Given the description of an element on the screen output the (x, y) to click on. 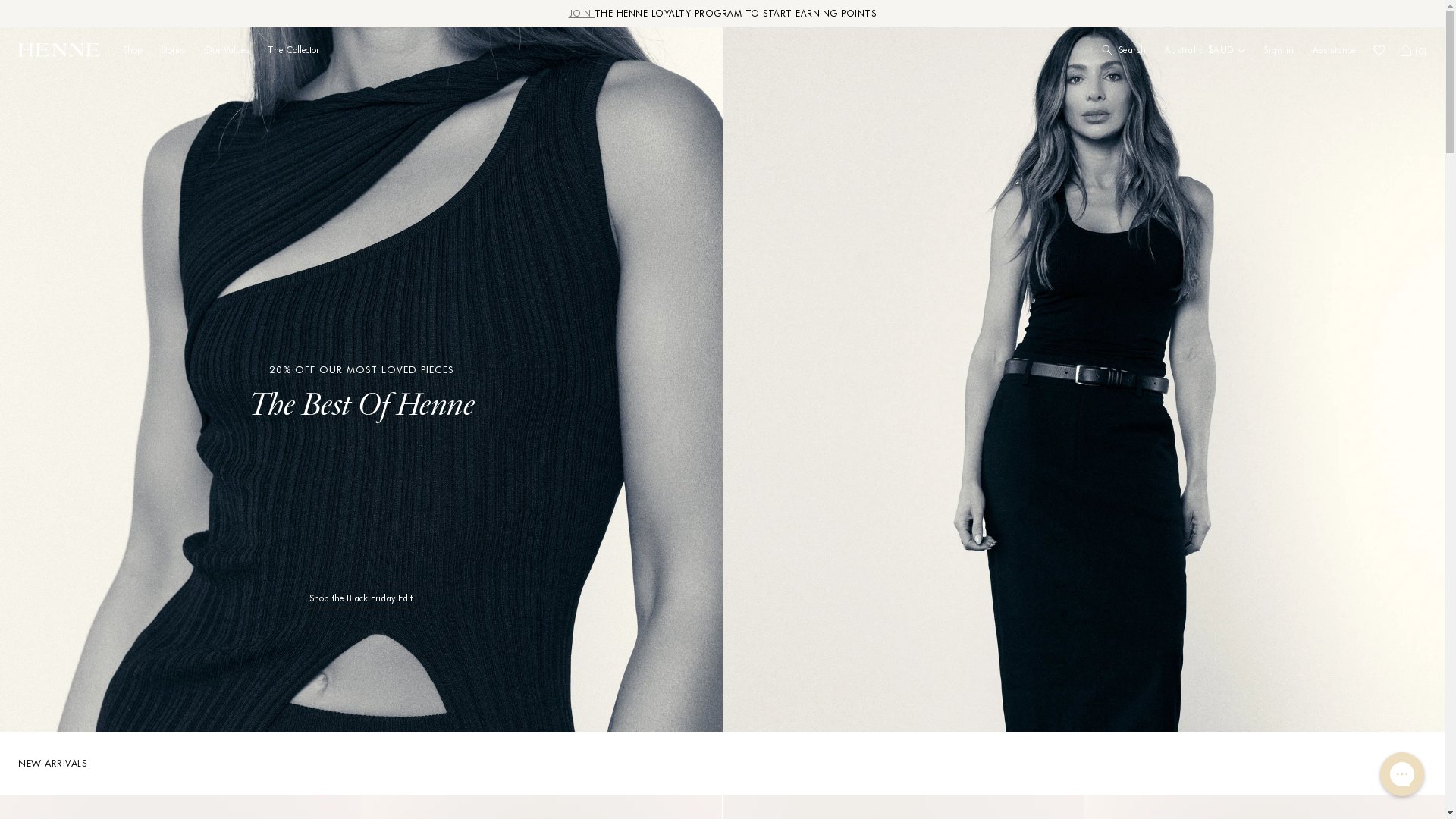
Assistance Element type: text (1333, 49)
Sign in Element type: text (1278, 49)
The Best Of Henne Element type: text (361, 407)
Our Values Element type: text (226, 49)
Shop Element type: text (132, 49)
The Collector Element type: text (293, 49)
JOIN Element type: text (581, 12)
Search Element type: text (1123, 49)
Shop the Black Friday Edit Element type: text (360, 600)
(0) Element type: text (1413, 50)
Stories Element type: text (172, 49)
